Given the description of an element on the screen output the (x, y) to click on. 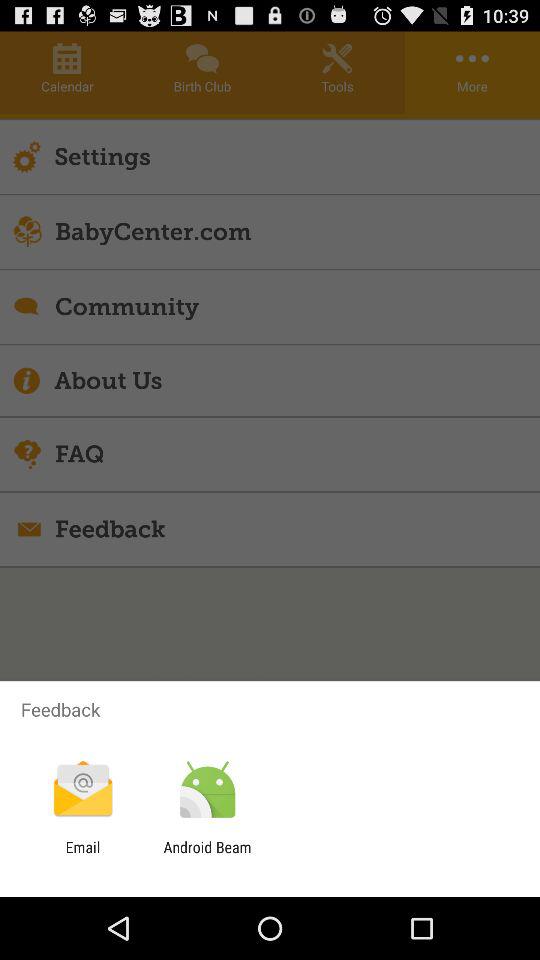
turn off icon to the left of the android beam item (82, 856)
